Given the description of an element on the screen output the (x, y) to click on. 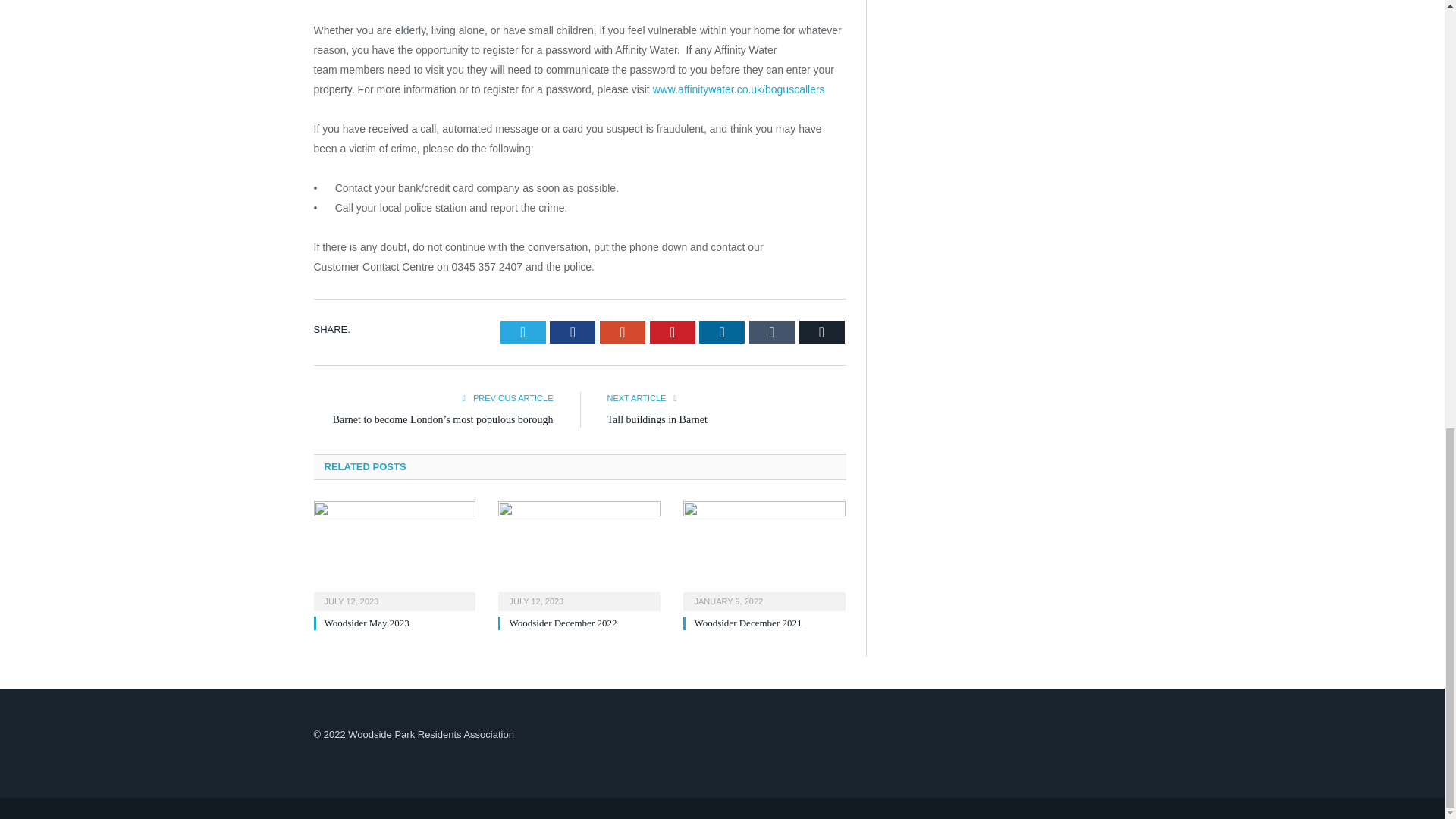
Share on Pinterest (672, 332)
Share via Email (821, 332)
Woodsider May 2023 (395, 554)
Tweet It (523, 332)
Share on Tumblr (771, 332)
Share on Facebook (572, 332)
Share on LinkedIn (721, 332)
